Given the description of an element on the screen output the (x, y) to click on. 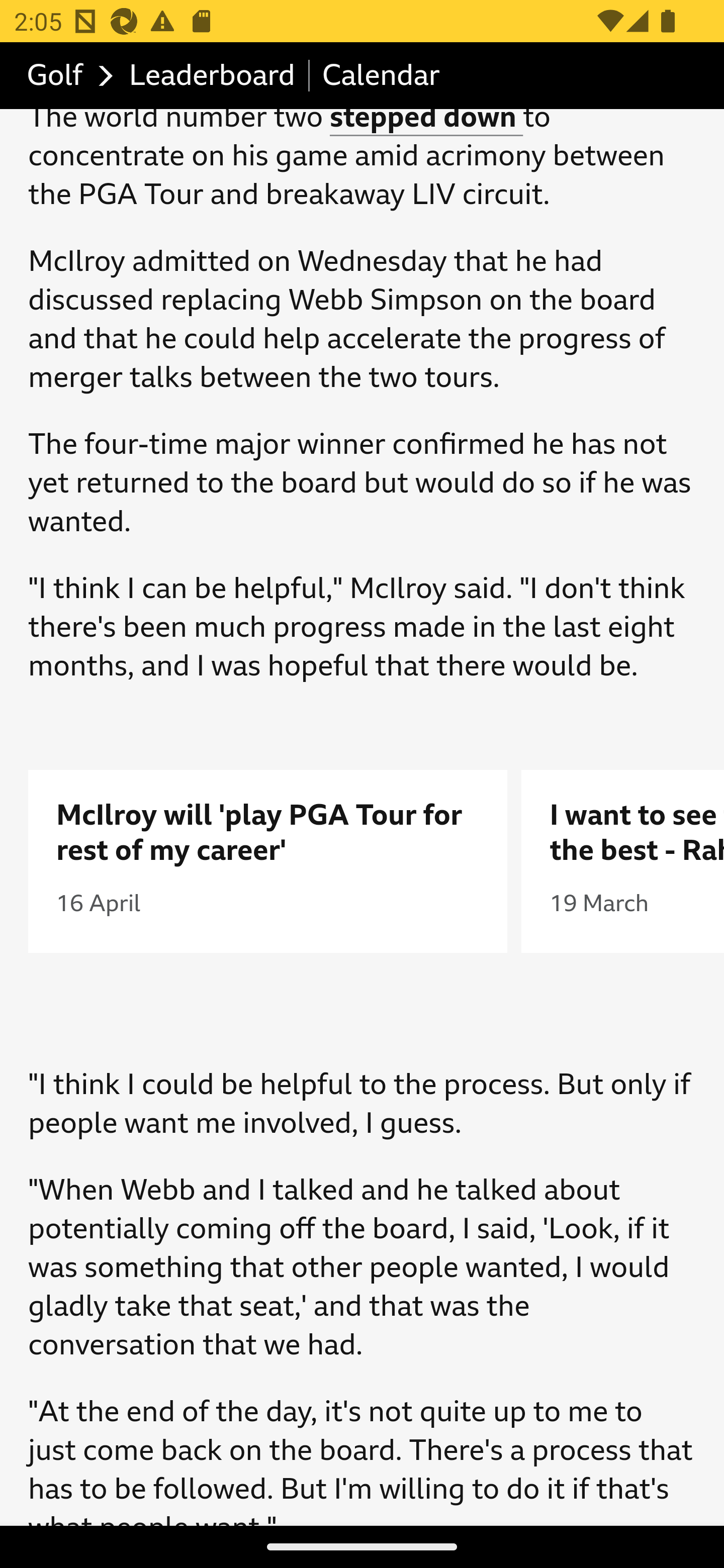
stepped down  (426, 117)
McIlroy will 'play PGA Tour for rest of my career' (268, 834)
